Given the description of an element on the screen output the (x, y) to click on. 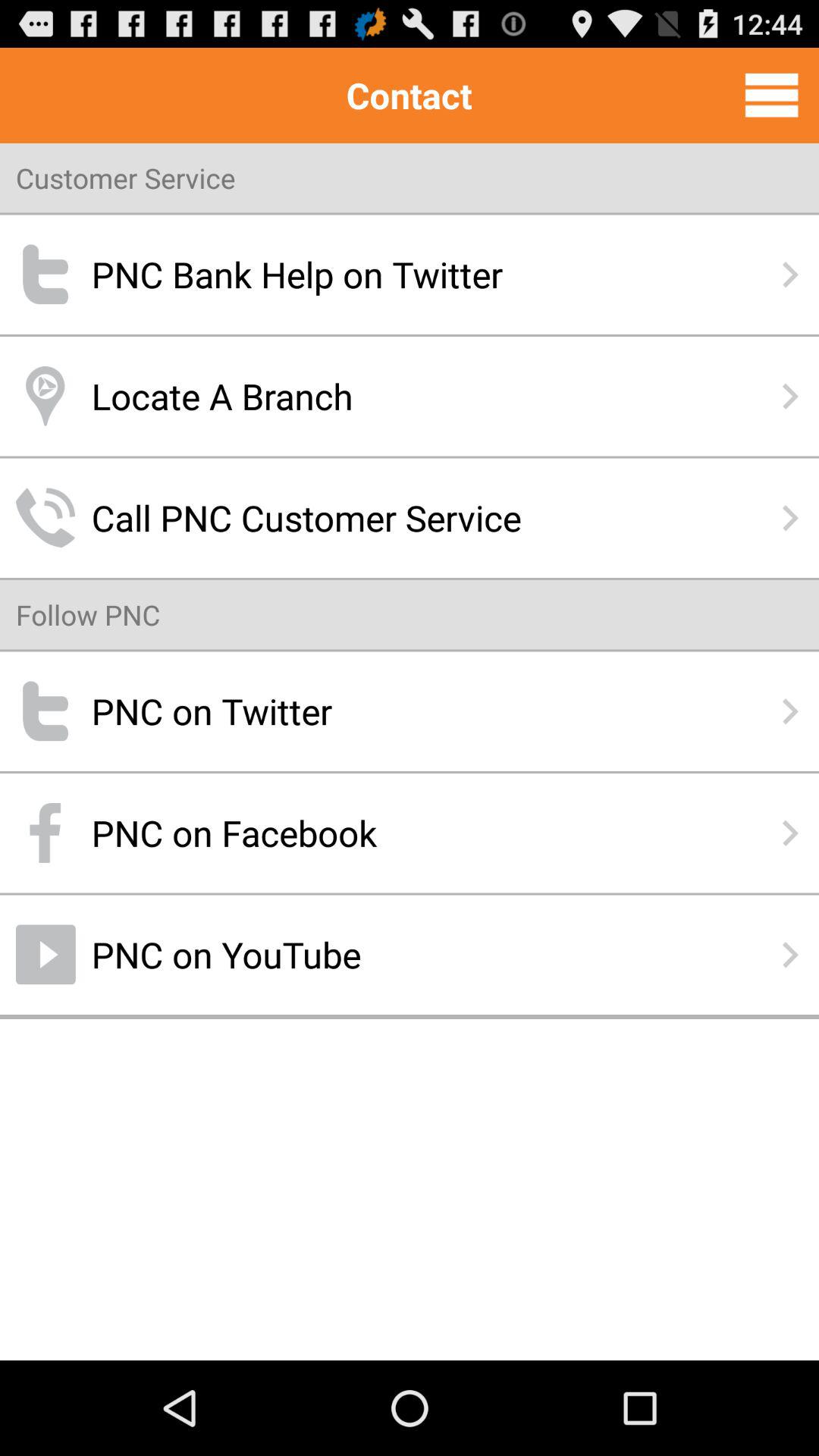
flip until the locate a branch icon (409, 396)
